Given the description of an element on the screen output the (x, y) to click on. 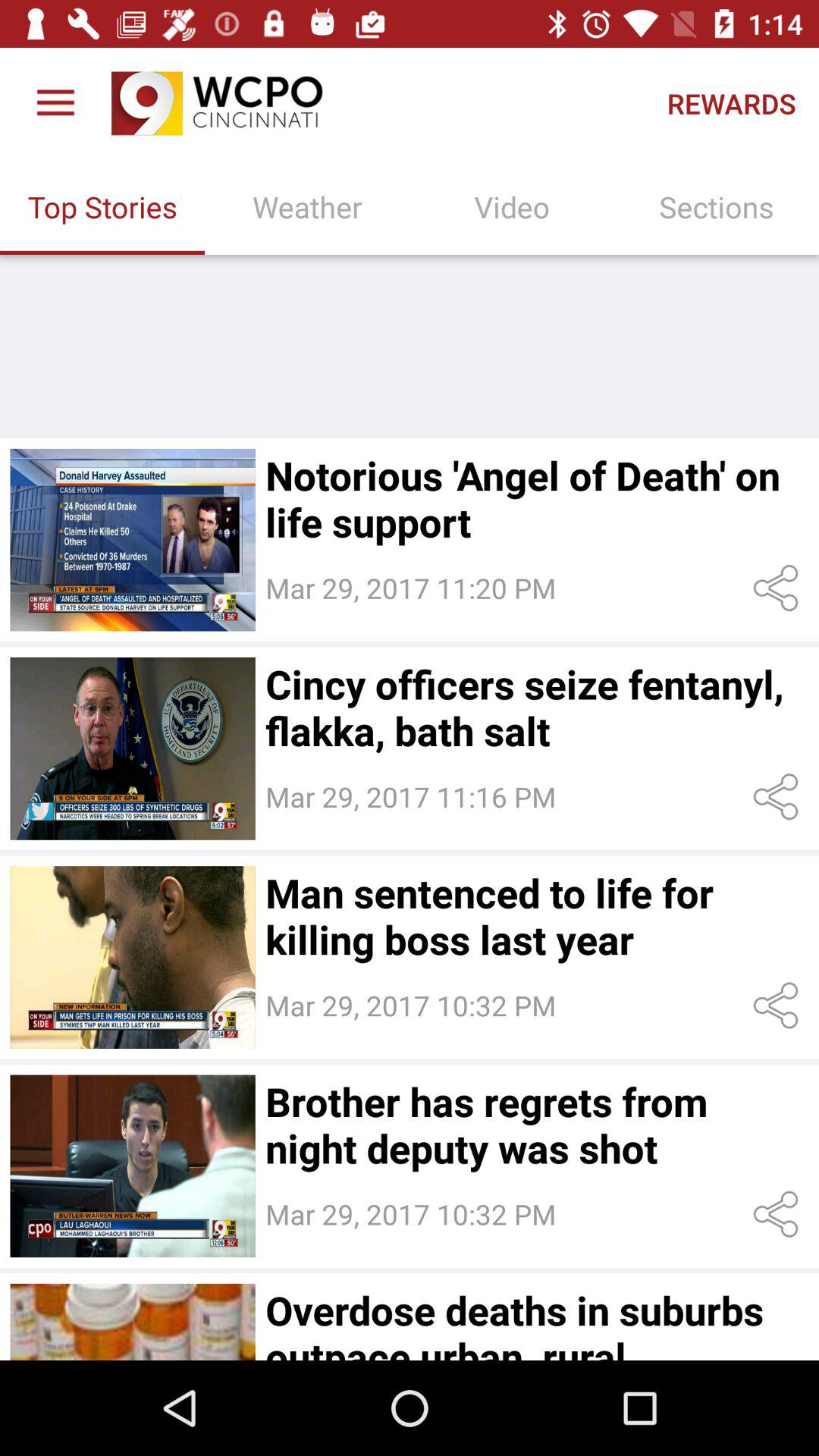
share settings (778, 1214)
